Given the description of an element on the screen output the (x, y) to click on. 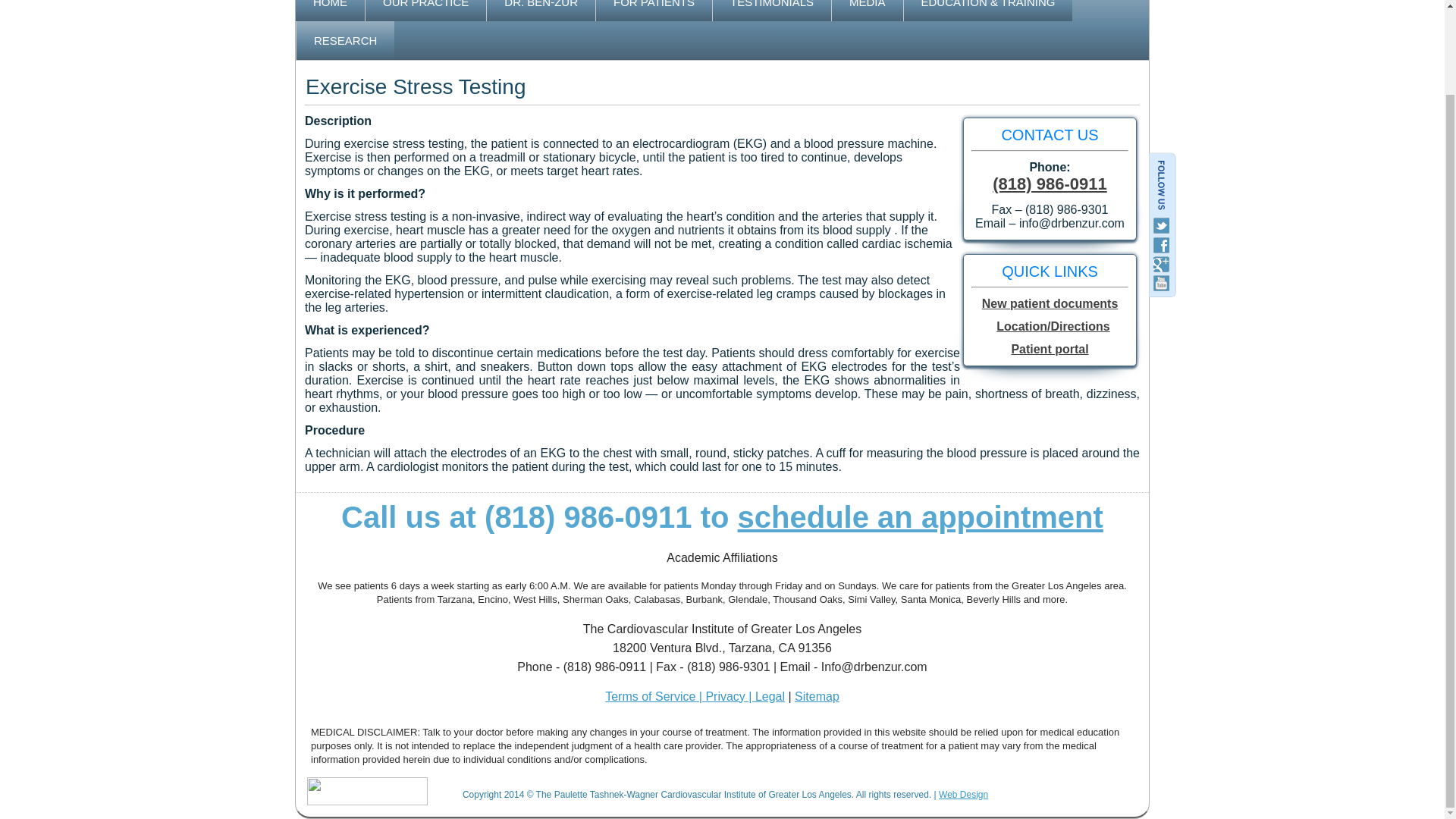
TESTIMONIALS (772, 10)
MEDIA (866, 10)
OUR PRACTICE (425, 10)
OUR PRACTICE (425, 10)
FOR PATIENTS (653, 10)
HOME (330, 10)
FOR PATIENTS (653, 10)
DR. BEN-ZUR (540, 10)
DR. BEN-ZUR (540, 10)
Home (330, 10)
